Given the description of an element on the screen output the (x, y) to click on. 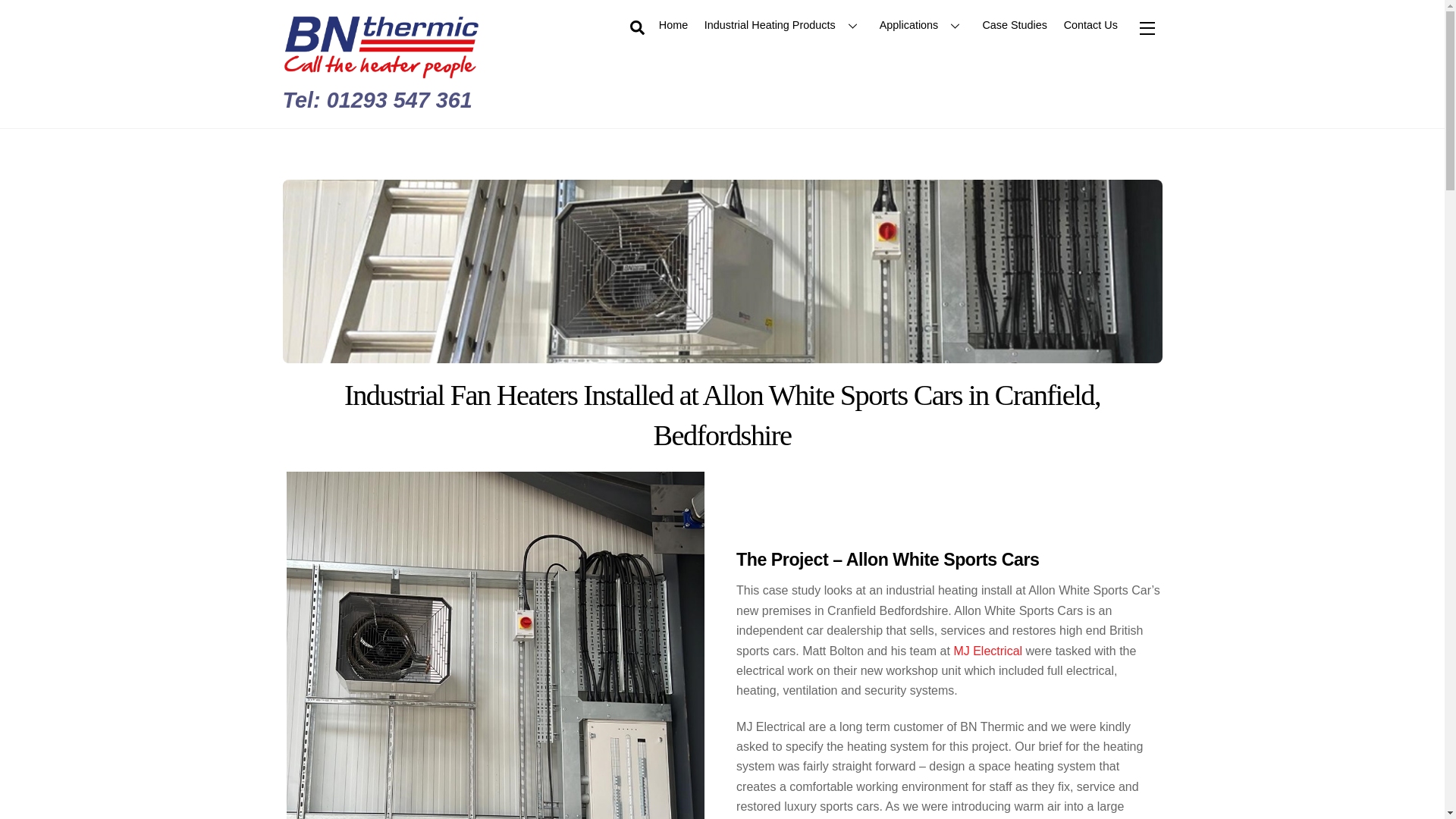
Industrial Heating Products (783, 24)
Search (637, 27)
Home (673, 24)
Contact Us (1090, 24)
Widgets (1146, 27)
BN Thermic (380, 71)
Case Studies (1014, 24)
